Given the description of an element on the screen output the (x, y) to click on. 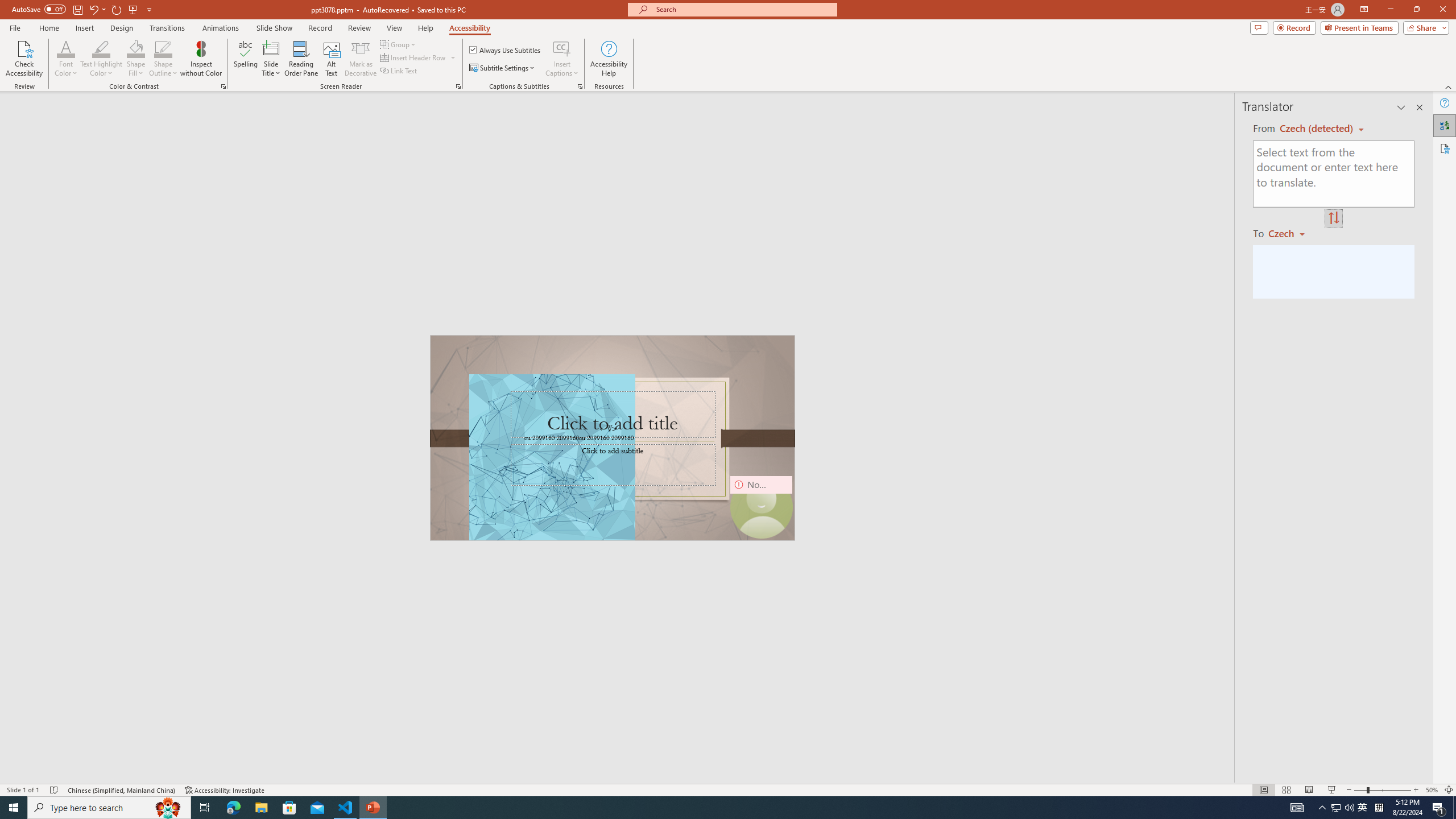
Zoom 50% (1431, 790)
TextBox 61 (611, 438)
Link Text (399, 69)
Reading Order Pane (301, 58)
